Given the description of an element on the screen output the (x, y) to click on. 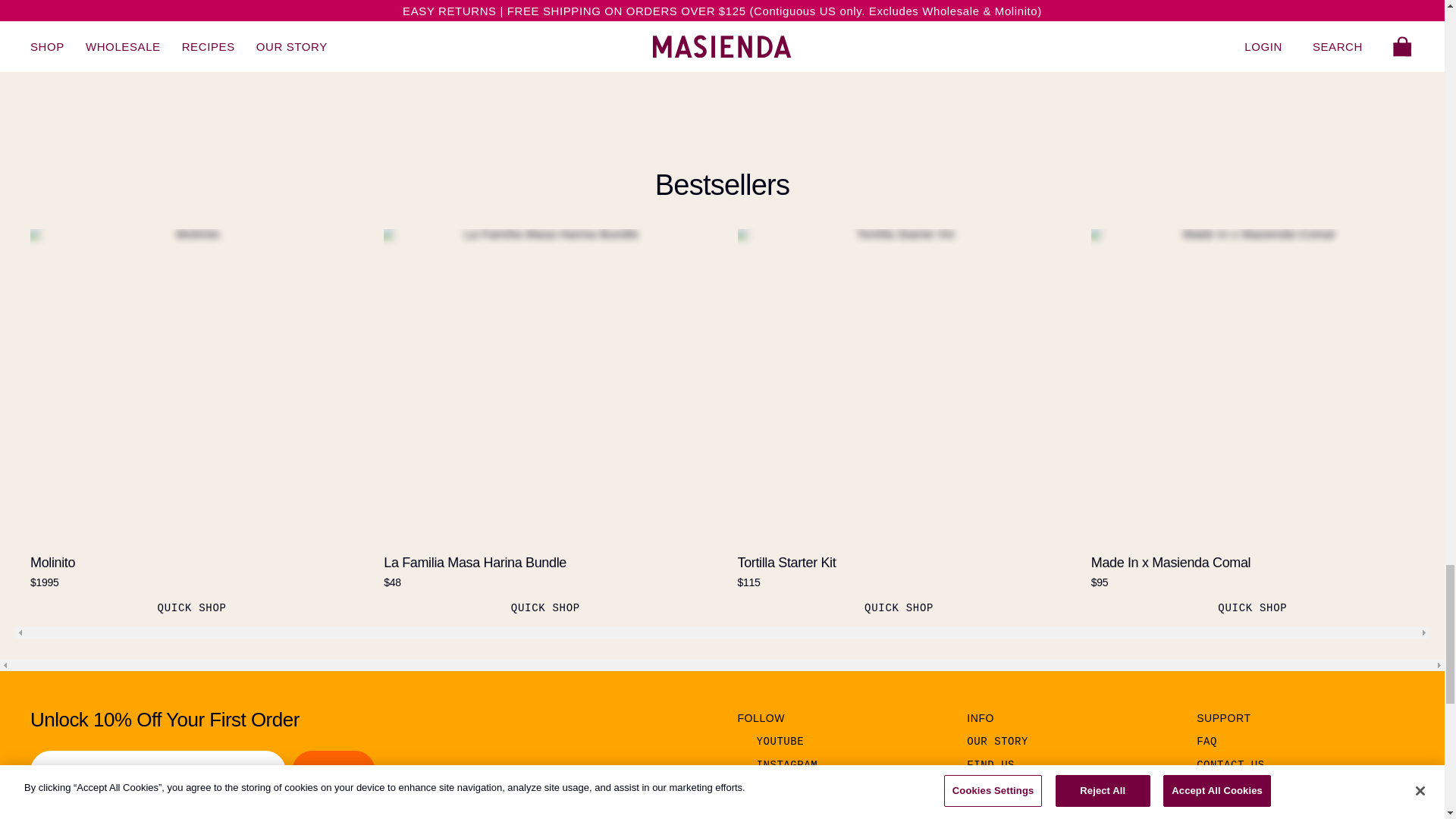
La Familia Masa Harina Bundle (545, 390)
Made In x Masienda Comal (1251, 390)
Molinito (191, 390)
Tortilla Starter Kit (897, 390)
